Given the description of an element on the screen output the (x, y) to click on. 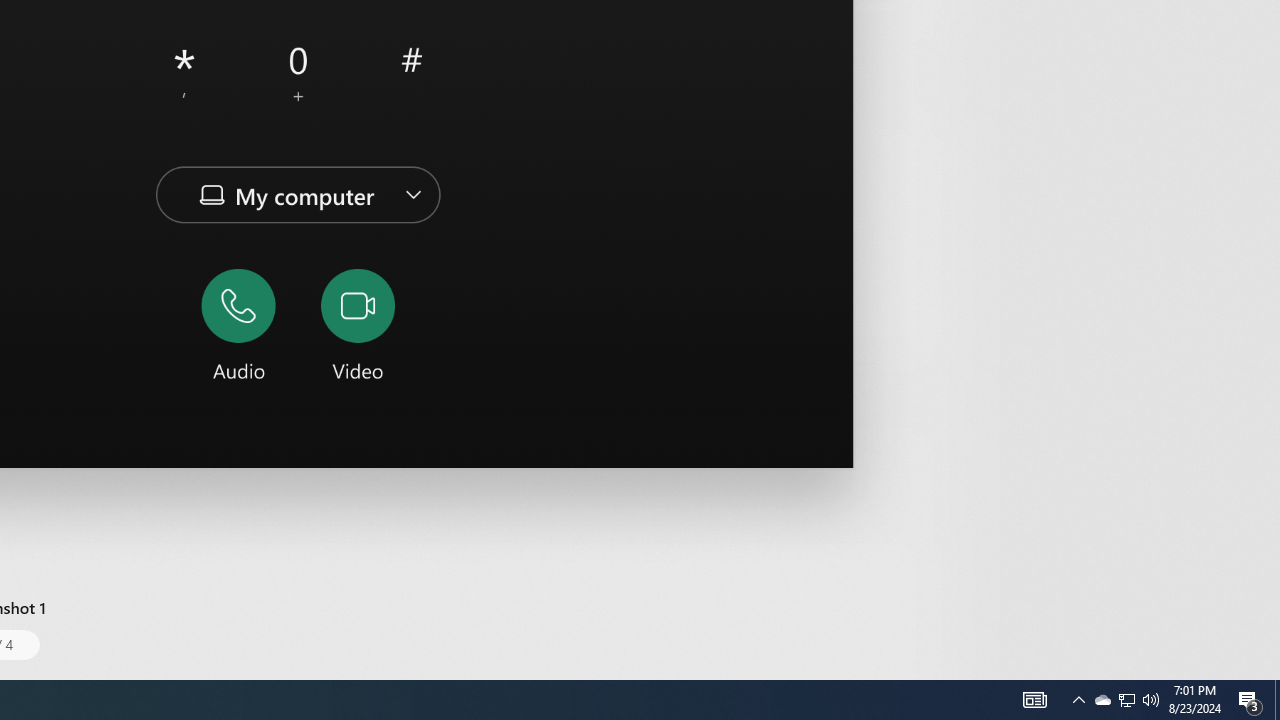
Show all ratings and reviews (924, 85)
Yes, this was helpful. 34 votes. (797, 398)
Report review (917, 398)
No, this was not helpful. 23 votes. (864, 398)
